Given the description of an element on the screen output the (x, y) to click on. 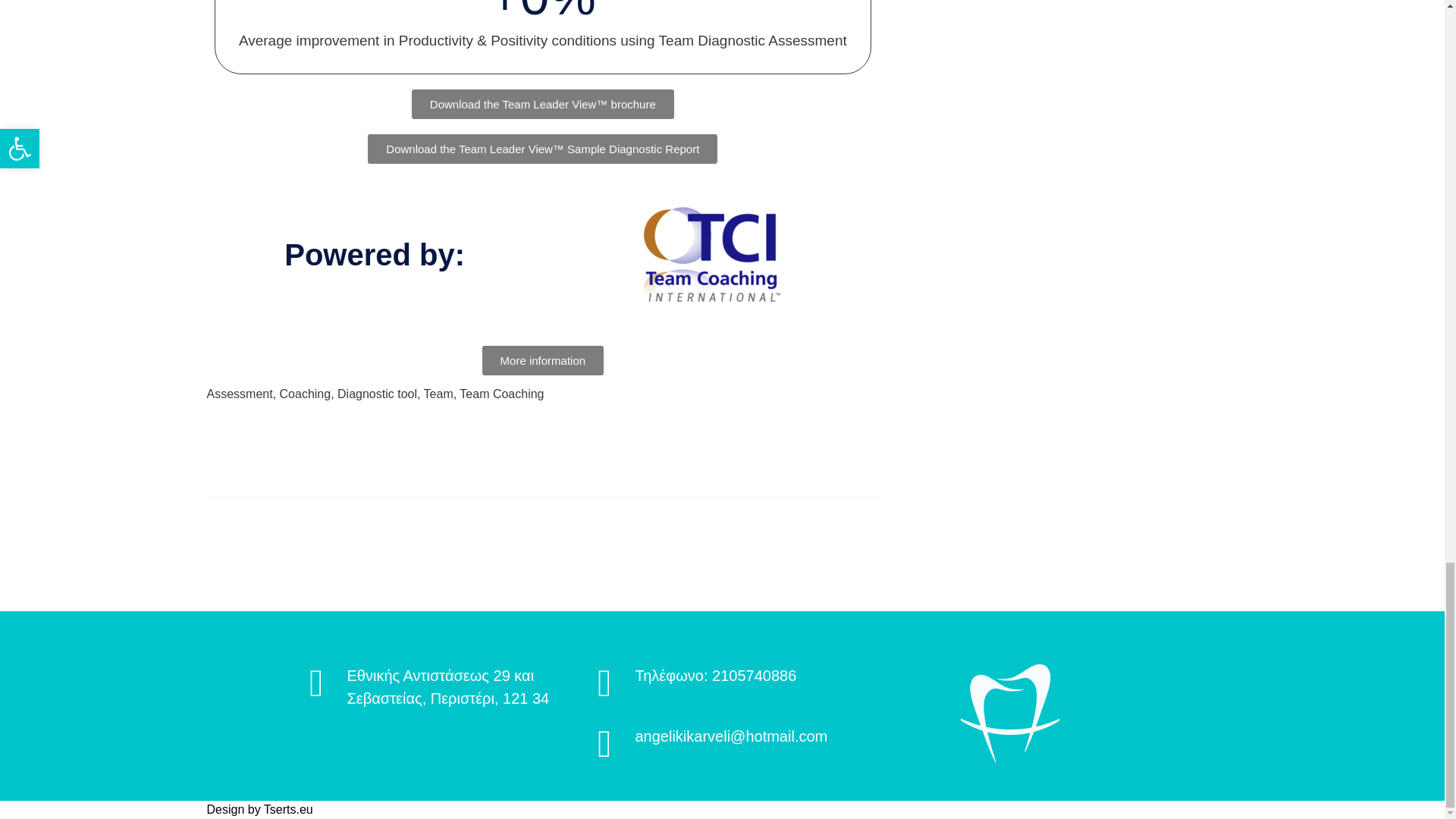
Team Coaching (501, 393)
Assessment (239, 393)
More information (542, 360)
Diagnostic tool (376, 393)
Team (437, 393)
Coaching (305, 393)
